Given the description of an element on the screen output the (x, y) to click on. 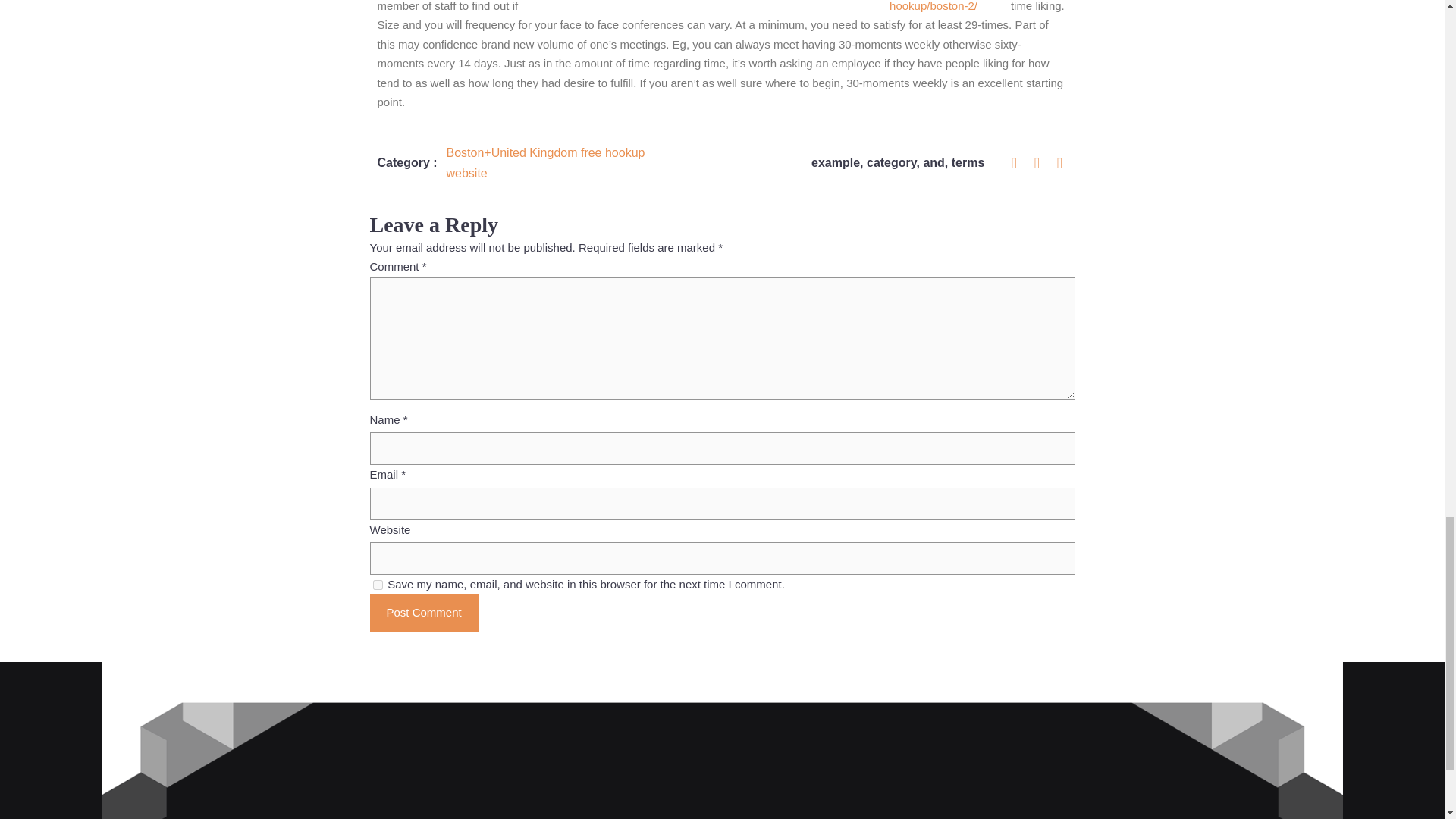
Post Comment (424, 612)
Post Comment (424, 612)
